Given the description of an element on the screen output the (x, y) to click on. 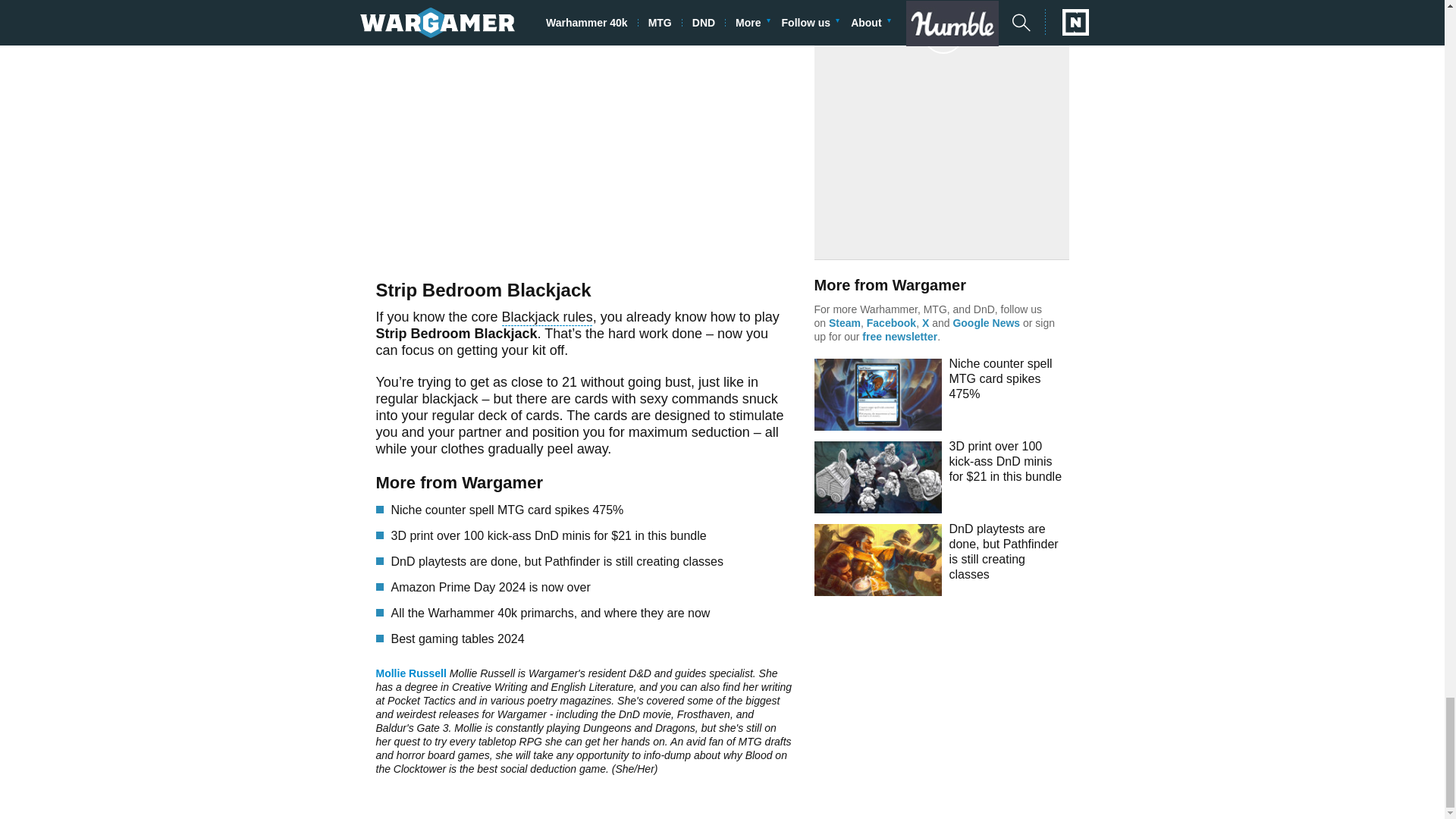
All the Warhammer 40k primarchs, and where they are now (592, 613)
Amazon Prime Day 2024 is now over (592, 587)
sex-card-games-strip-bedroom-blackjack (584, 126)
Best gaming tables 2024 (592, 638)
